Given the description of an element on the screen output the (x, y) to click on. 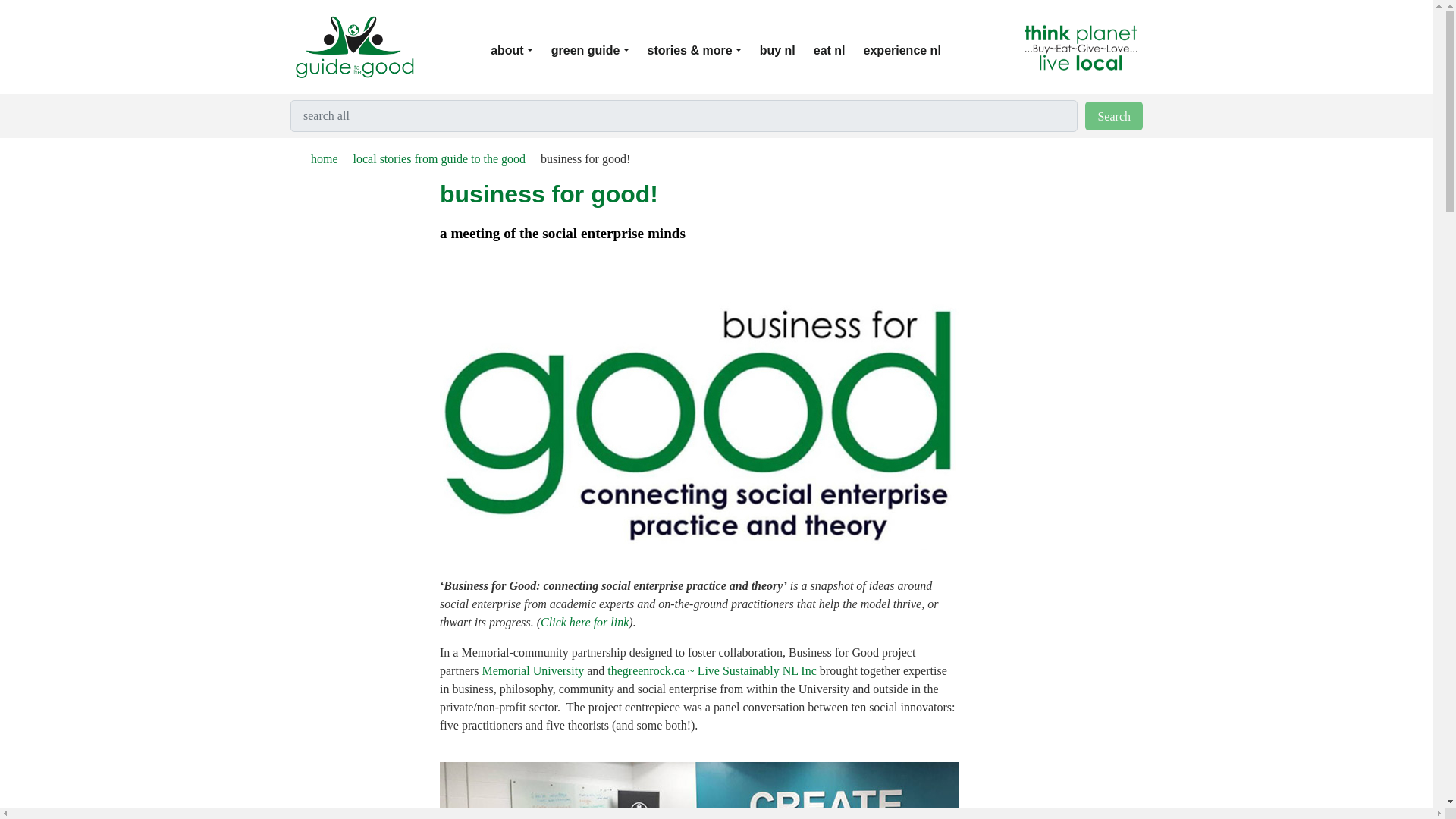
buy nl (786, 51)
Click here for link (584, 621)
home (316, 158)
eat nl (838, 51)
Memorial University (533, 670)
local stories from guide to the good (431, 158)
home (316, 158)
experience nl (911, 51)
Search (1113, 115)
green guide (599, 51)
about (520, 51)
local stories from guide to the good (431, 158)
